Given the description of an element on the screen output the (x, y) to click on. 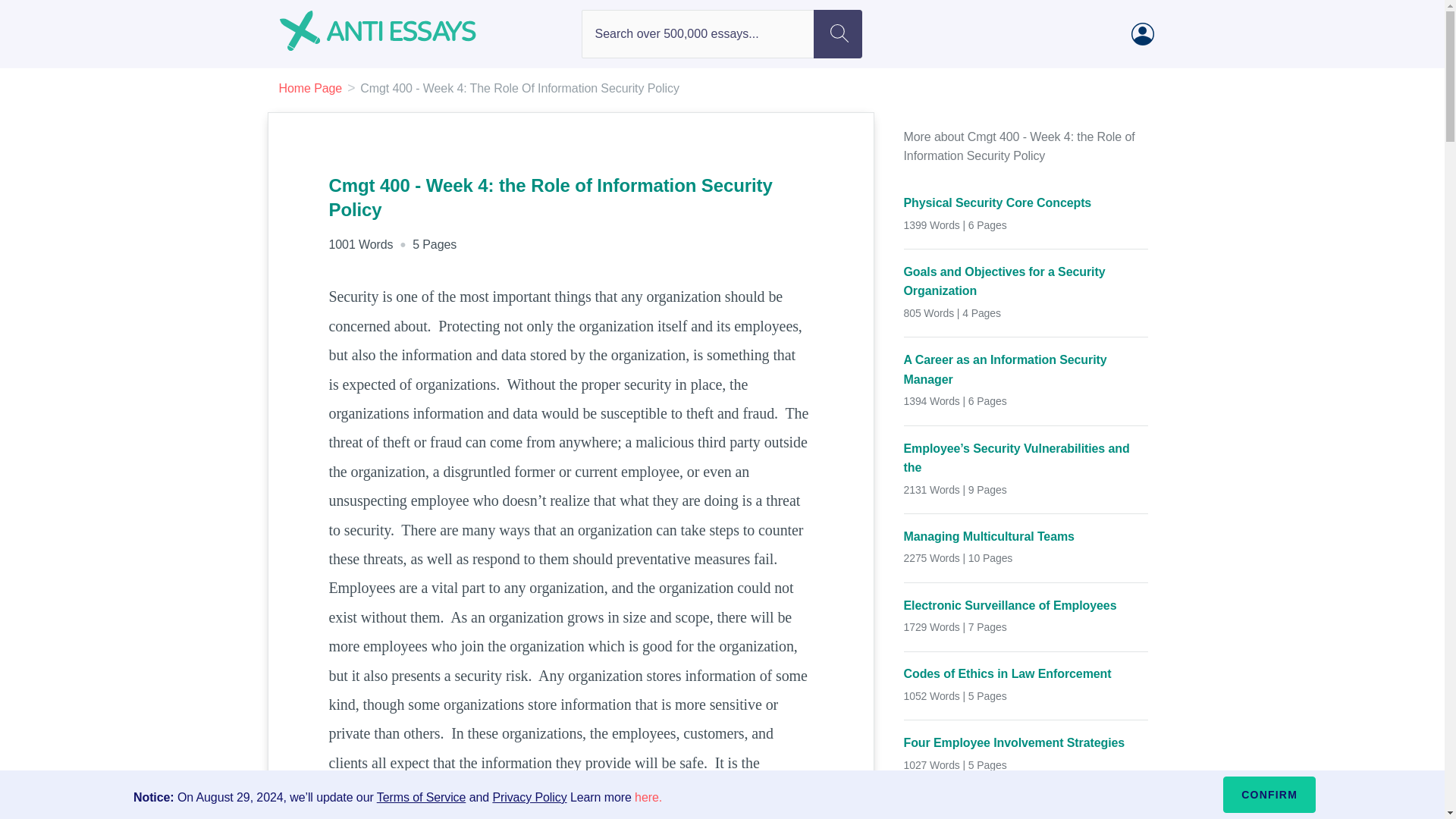
Electronic Surveillance of Employees (1026, 605)
Managing Multicultural Teams (1026, 537)
Four Employee Involvement Strategies (1026, 742)
Home Page (310, 88)
Goals and Objectives for a Security Organization (1026, 281)
Codes of Ethics in Law Enforcement (1026, 673)
Outline the Qualities of a Good Leader in Business Context. (1026, 810)
Physical Security Core Concepts (1026, 202)
A Career as an Information Security Manager (1026, 369)
